Given the description of an element on the screen output the (x, y) to click on. 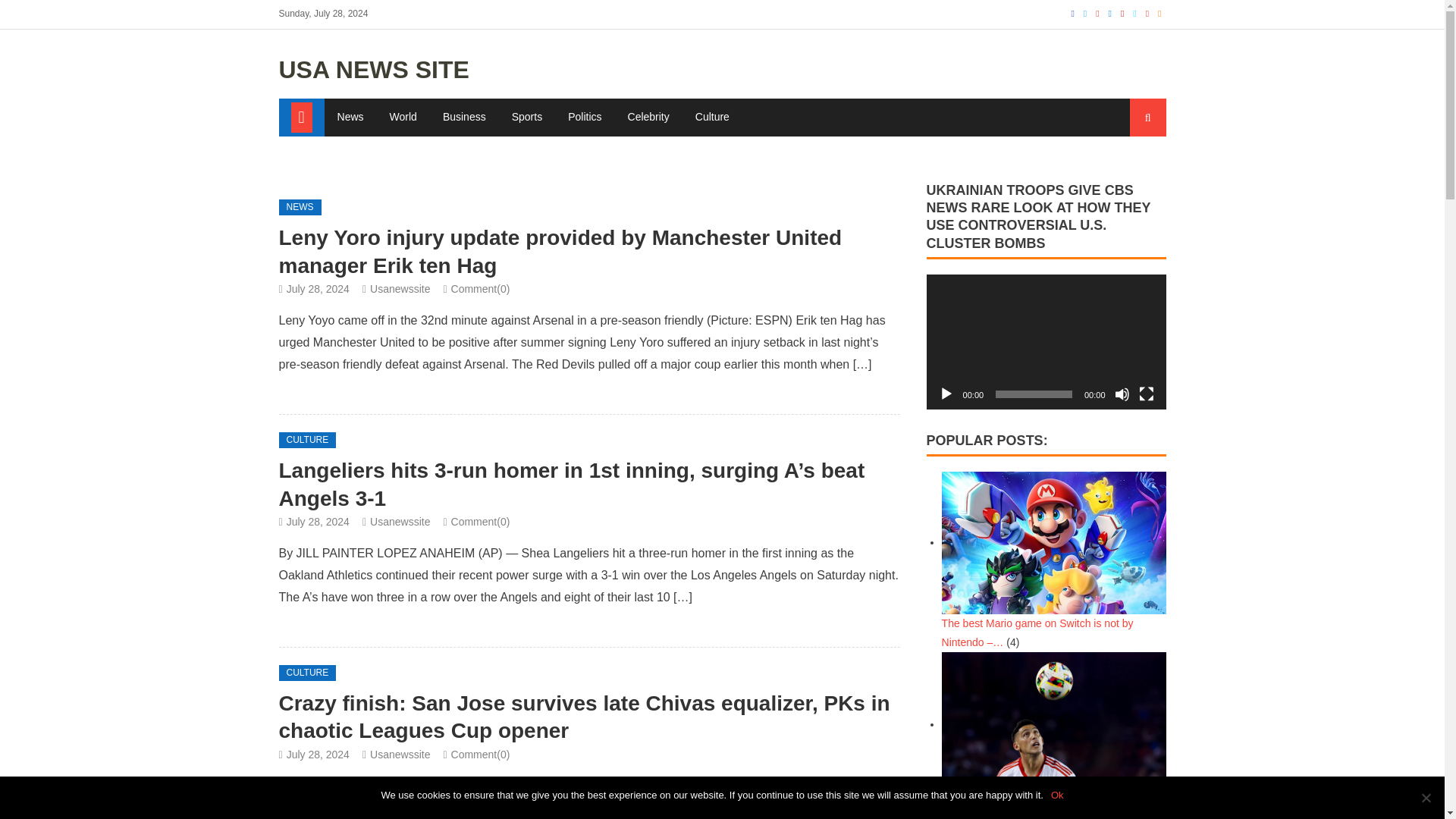
USA NEWS SITE (373, 69)
Usanewssite (399, 288)
Usanewssite (399, 754)
NEWS (300, 207)
Usanewssite (399, 521)
July 28, 2024 (317, 754)
Business (463, 116)
News (350, 116)
Celebrity (648, 116)
Culture (712, 116)
July 28, 2024 (317, 288)
World (403, 116)
